Given the description of an element on the screen output the (x, y) to click on. 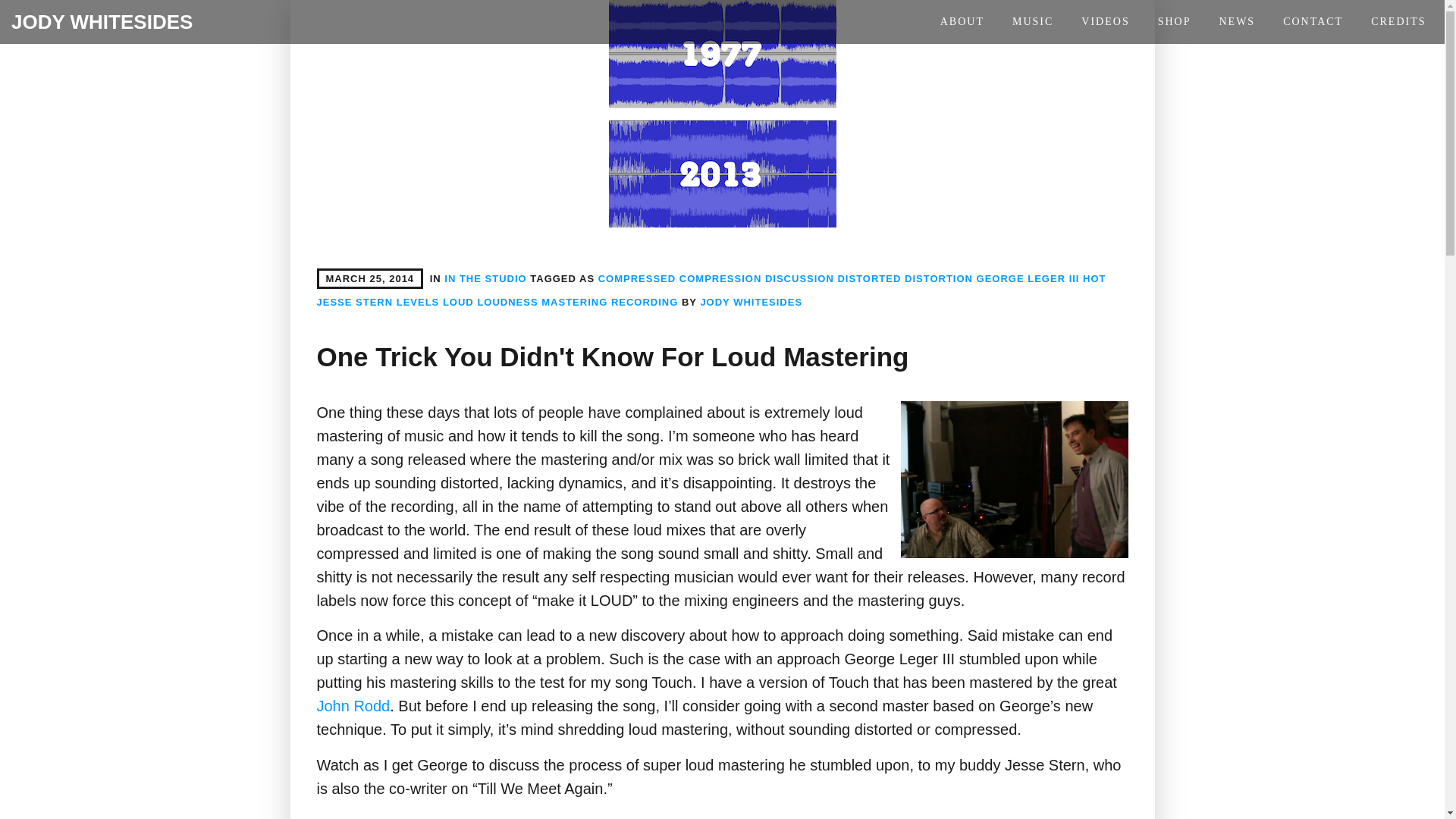
Music (1032, 23)
JODY WHITESIDES (751, 301)
One Trick You Didn't Know For Loud Mastering (612, 356)
HOT (1094, 278)
loud-mastering-years (721, 113)
View all posts tagged as: compression (720, 278)
John Rodd (353, 705)
View all posts tagged as: distortion (938, 278)
View all posts tagged as: distorted (869, 278)
Contact (1313, 23)
ABOUT (961, 23)
JODY WHITESIDES (101, 21)
GEORGE LEGER III (1028, 278)
COMPRESSION (720, 278)
